Given the description of an element on the screen output the (x, y) to click on. 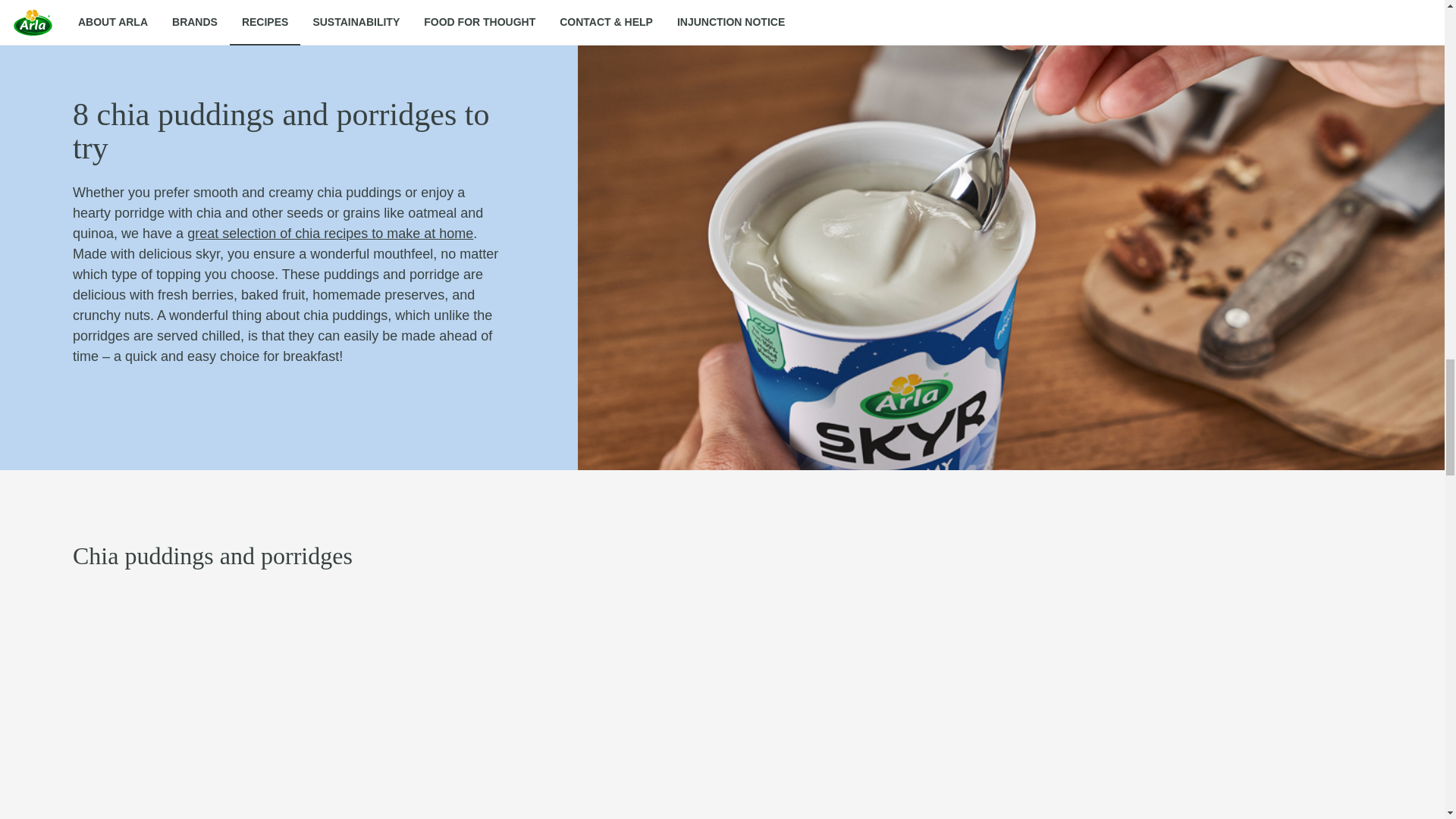
great selection of chia recipes to make at home (330, 233)
